Given the description of an element on the screen output the (x, y) to click on. 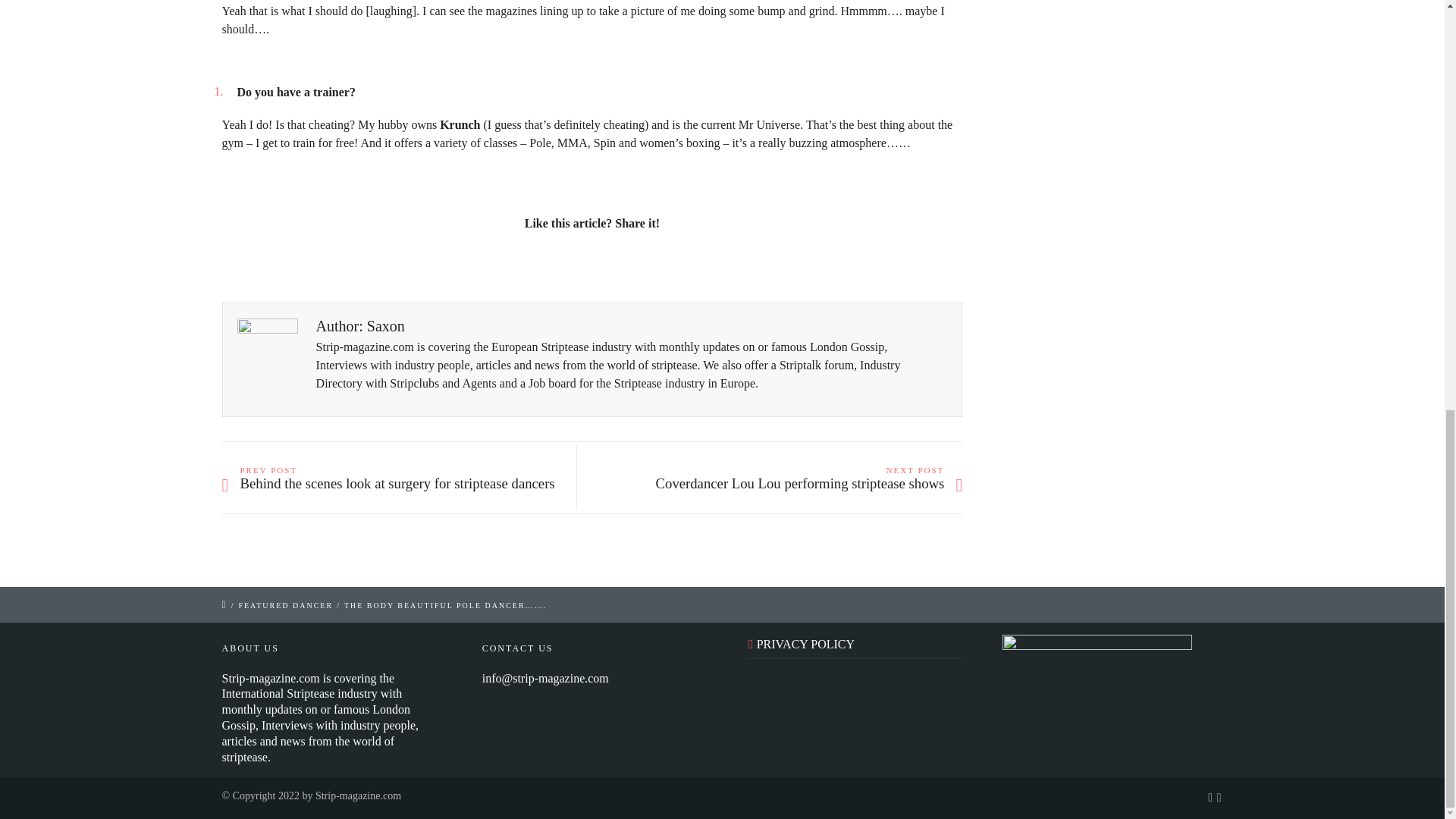
PRIVACY POLICY (805, 644)
FEATURED DANCER (285, 605)
Behind the scenes look at surgery for striptease dancers (402, 483)
Strip-magazine.com (358, 795)
Facebook (558, 263)
Coverdancer Lou Lou performing striptease shows (780, 483)
Twitter (525, 263)
Pinterest (658, 263)
Linkedin (592, 263)
